Given the description of an element on the screen output the (x, y) to click on. 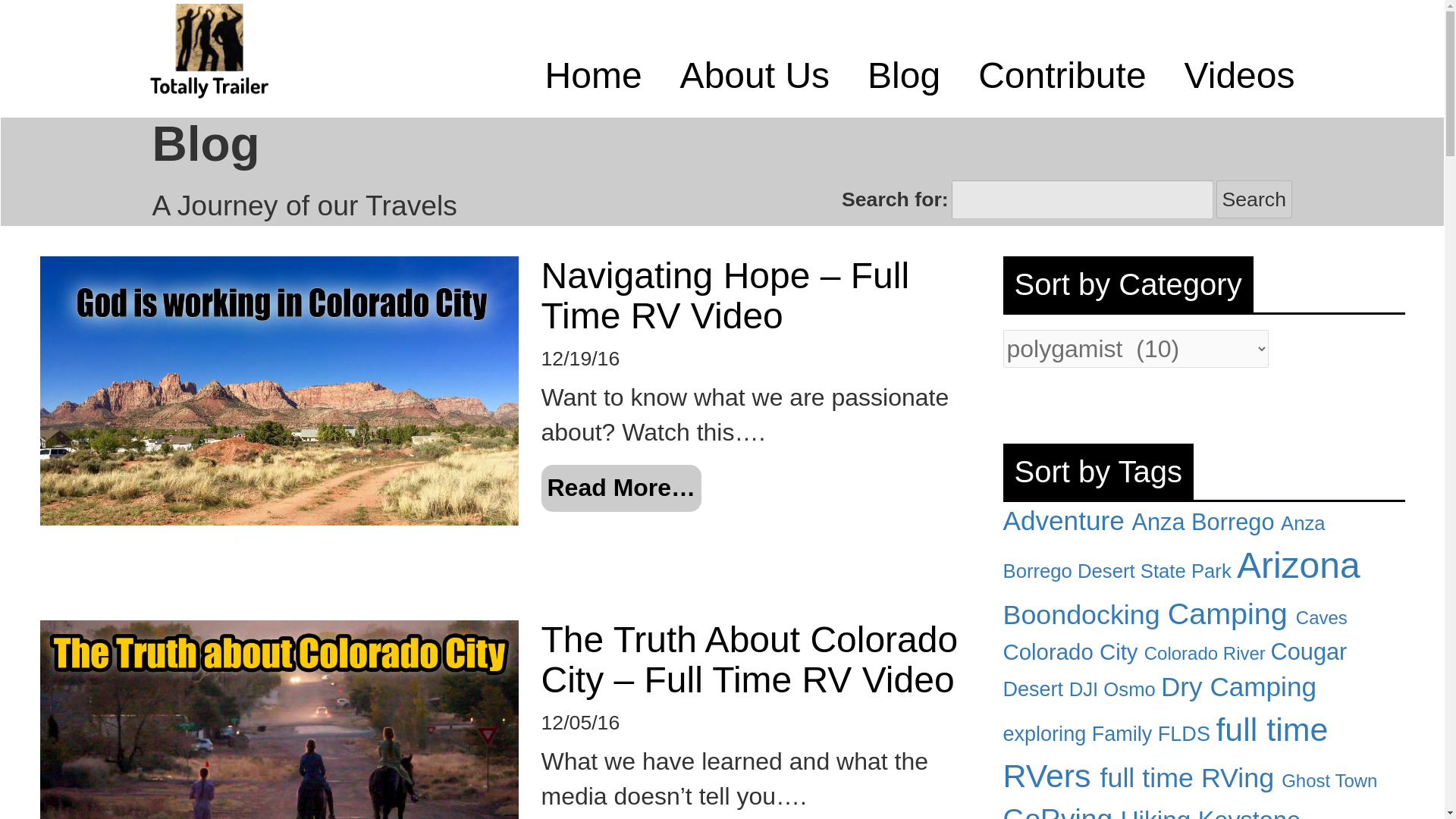
Camping (1231, 613)
Caves (1321, 617)
Videos (1240, 75)
Search (1253, 199)
Colorado City (1072, 651)
Keystone (1249, 812)
FLDS (1186, 733)
GoRving (1061, 811)
Dry Camping (1238, 686)
Arizona (1297, 565)
exploring (1046, 733)
Search (1253, 199)
Colorado River (1207, 652)
Contribute (1061, 75)
About Us (754, 75)
